Given the description of an element on the screen output the (x, y) to click on. 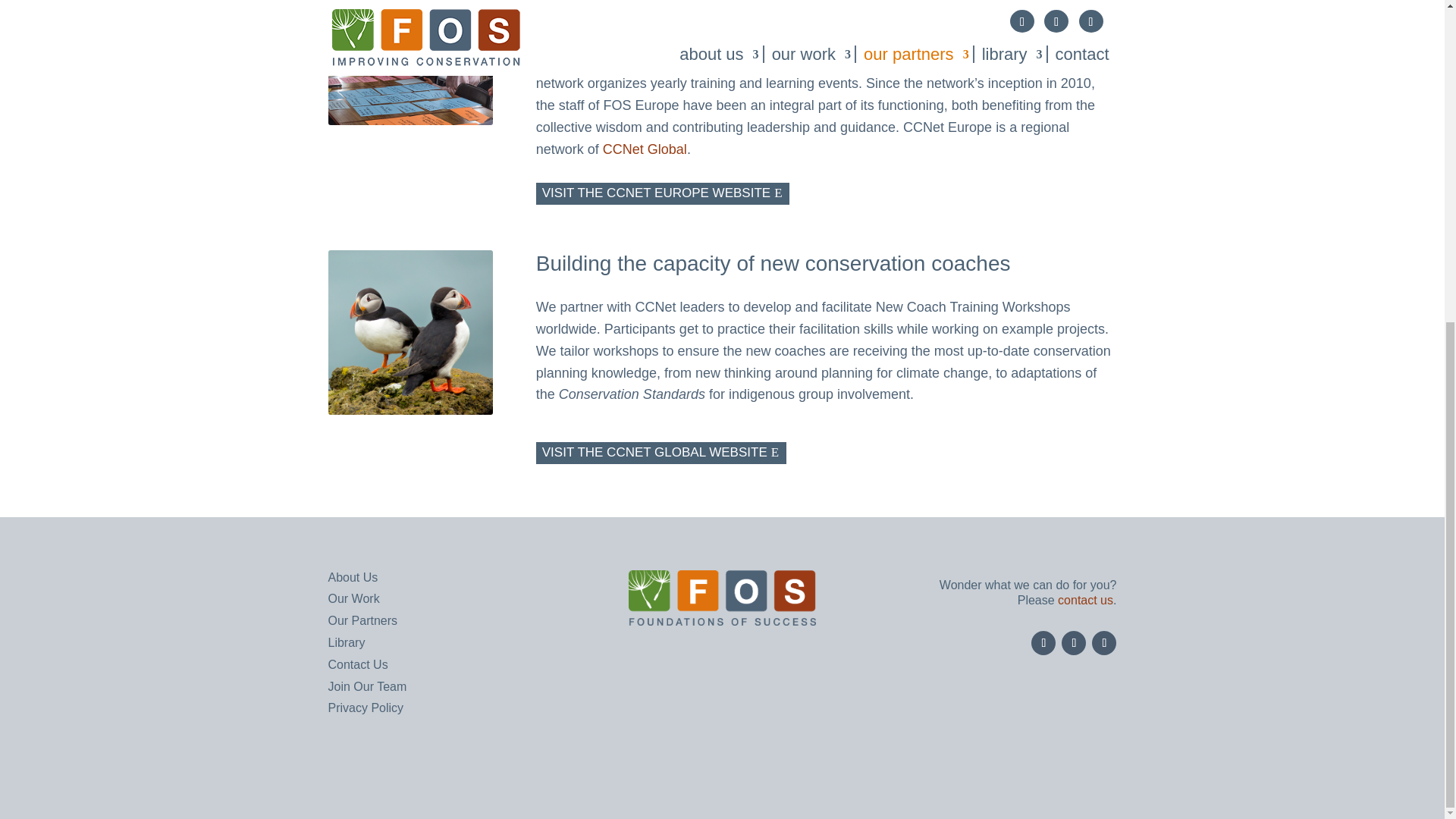
Follow on LinkedIn (1104, 642)
Follow on X (1073, 642)
Follow on Facebook (1042, 642)
